Given the description of an element on the screen output the (x, y) to click on. 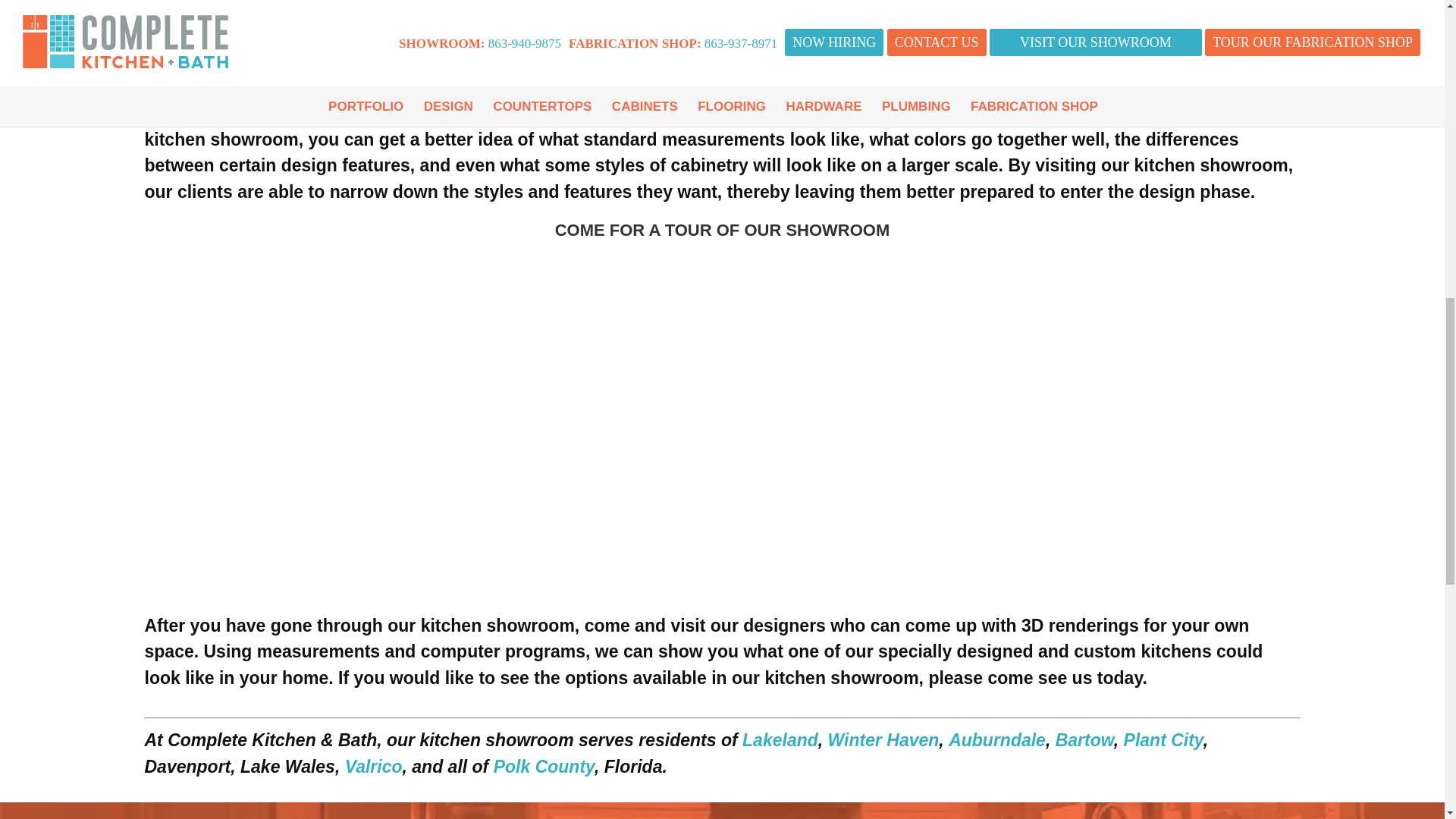
Auburndale (997, 740)
Lakeland (780, 740)
Polk County (543, 766)
Winter Haven (883, 740)
Valrico (374, 766)
Plant City (1164, 740)
Bartow (1084, 740)
